Given the description of an element on the screen output the (x, y) to click on. 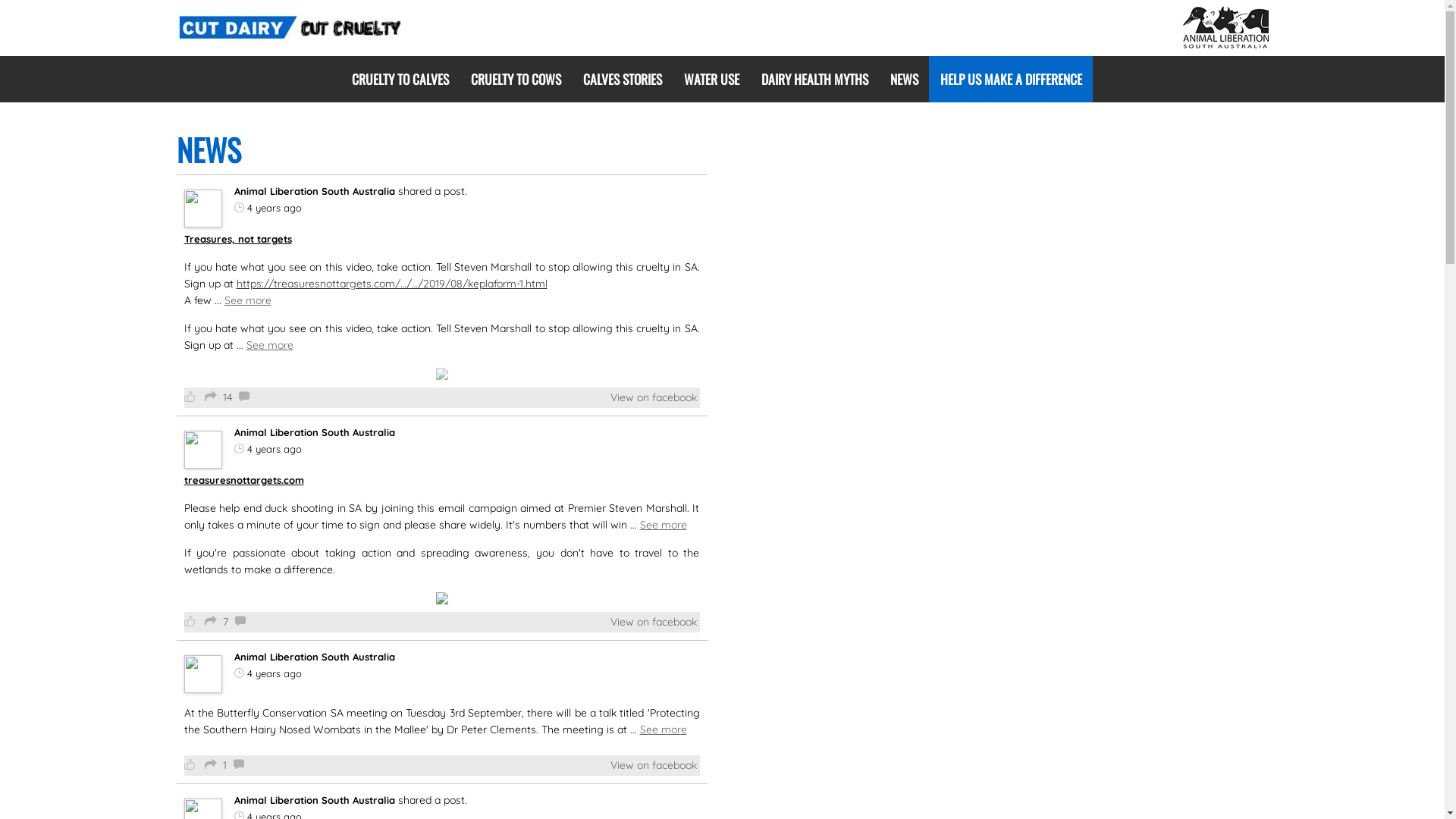
See more Element type: text (663, 729)
View on facebook Element type: text (652, 621)
See more Element type: text (268, 344)
CRUELTY TO COWS Element type: text (515, 79)
See more Element type: text (663, 524)
HELP US MAKE A DIFFERENCE Element type: text (1010, 79)
Animal Liberation South Australia Element type: text (313, 656)
DAIRY HEALTH MYTHS Element type: text (813, 79)
treasuresnottargets.com Element type: text (243, 479)
Animal Liberation South Australia Element type: text (313, 432)
Treasures, not targets Element type: text (237, 238)
Animal Liberation South Australia Element type: text (313, 191)
CRUELTY TO CALVES Element type: text (405, 79)
View on facebook Element type: text (652, 764)
Animal Liberation South Australia Element type: text (313, 799)
NEWS Element type: text (903, 79)
WATER USE Element type: text (710, 79)
CALVES STORIES Element type: text (621, 79)
See more Element type: text (247, 300)
View on facebook Element type: text (652, 396)
